Given the description of an element on the screen output the (x, y) to click on. 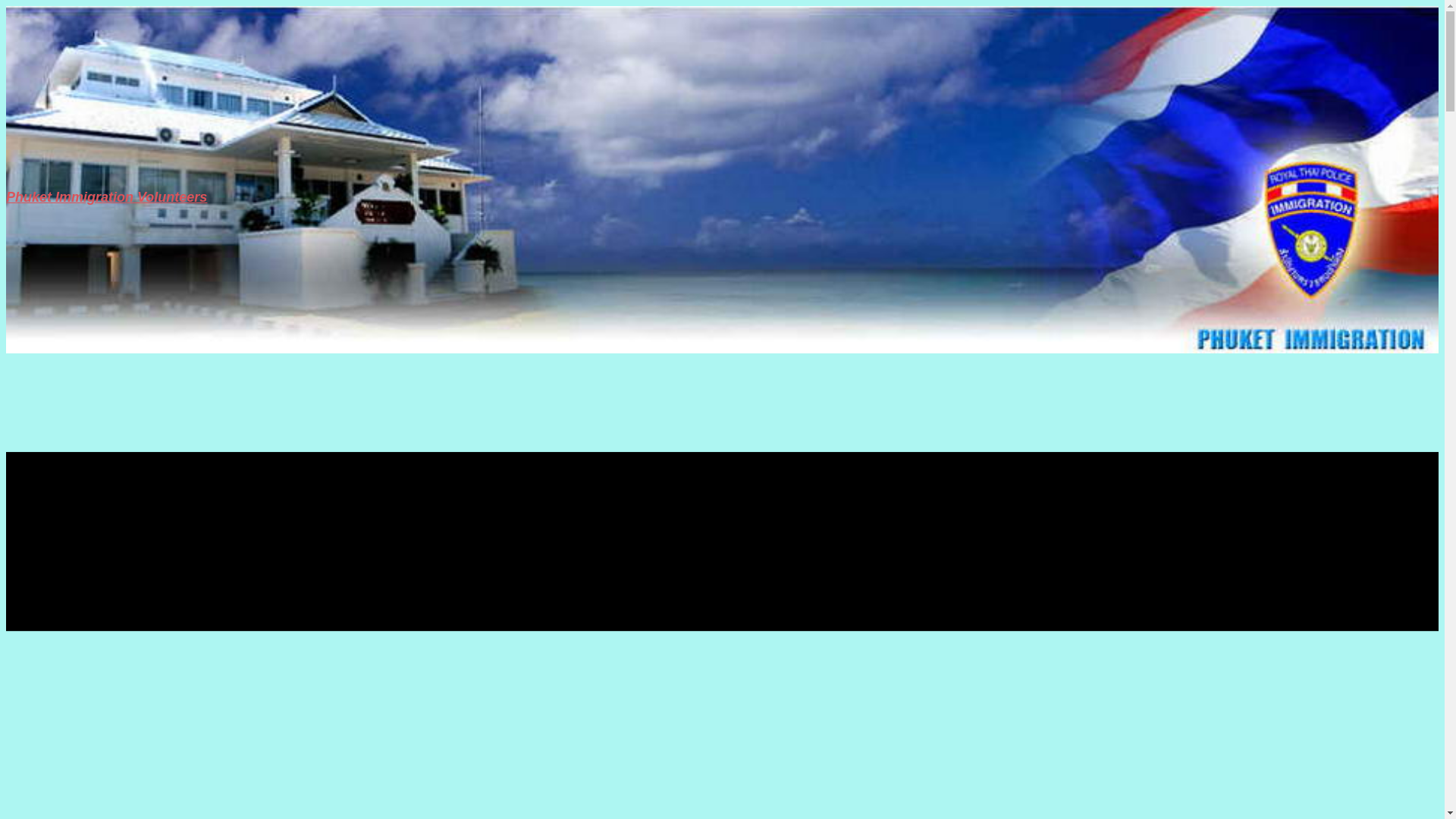
Phuket Immigration Volunteers (105, 196)
